Given the description of an element on the screen output the (x, y) to click on. 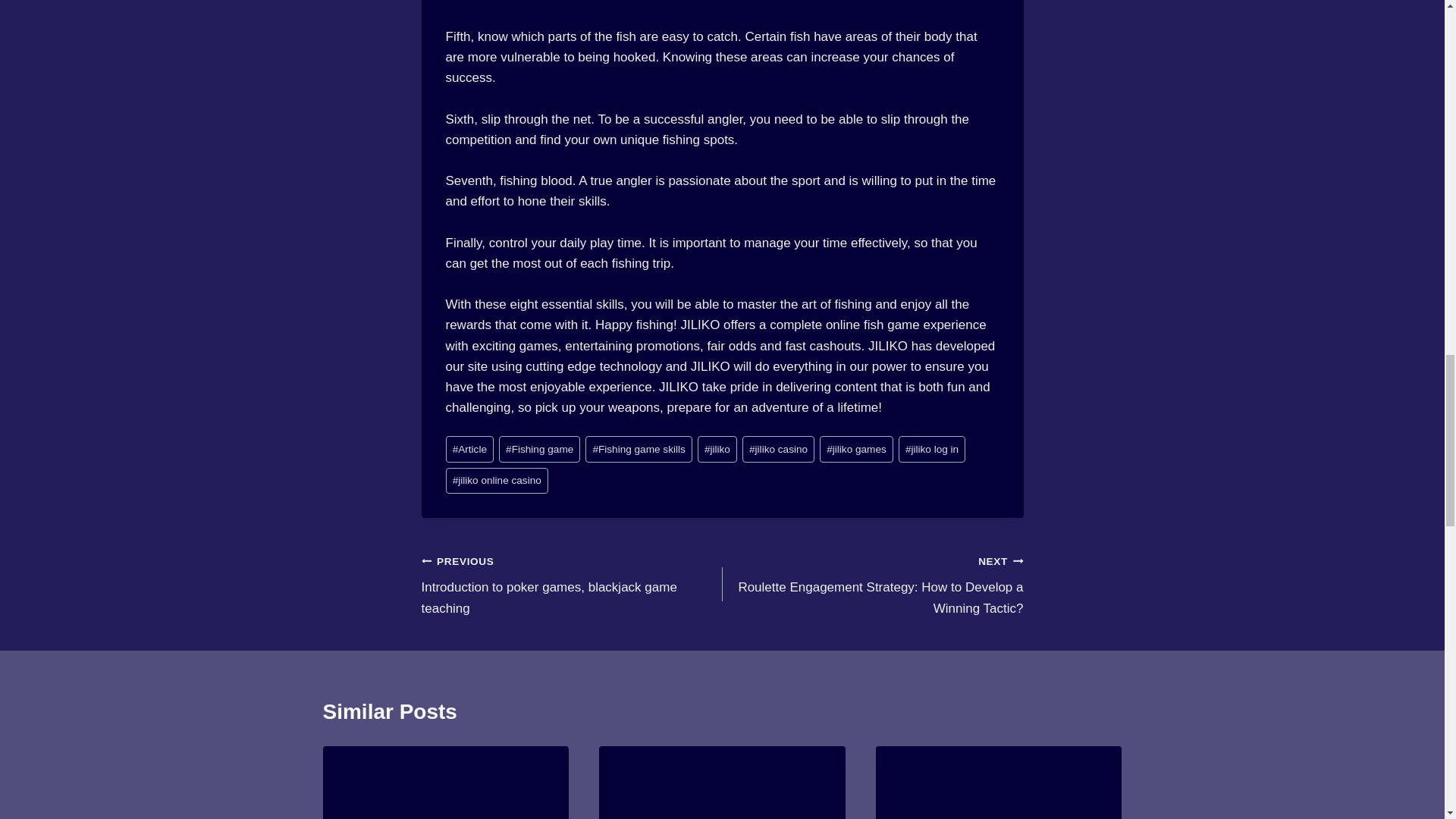
jiliko games (856, 448)
Article (470, 448)
jiliko (716, 448)
Fishing game skills (639, 448)
Fishing game (539, 448)
jiliko casino (777, 448)
jiliko log in (932, 448)
jiliko online casino (496, 480)
